Given the description of an element on the screen output the (x, y) to click on. 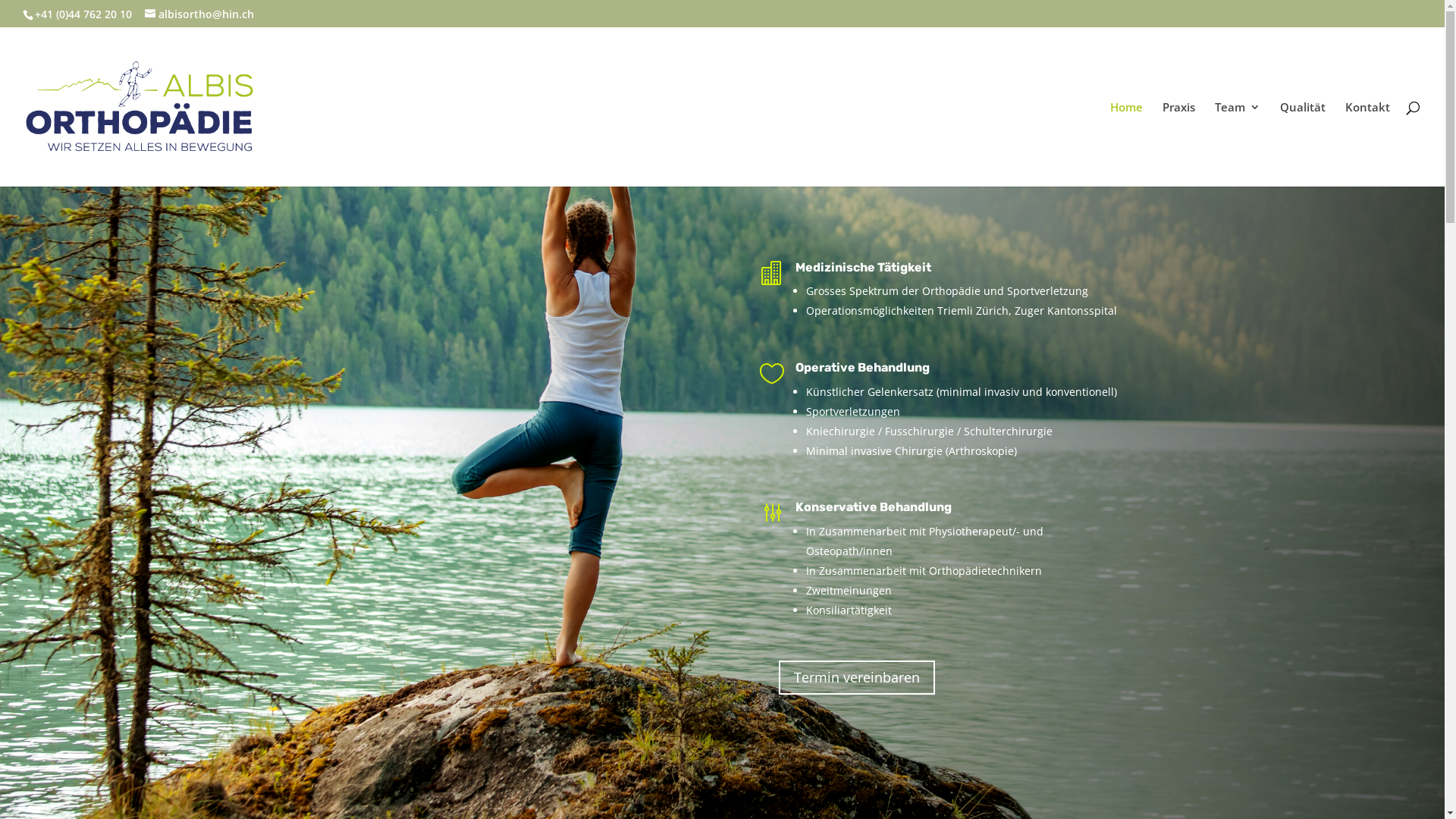
+41 (0)44 762 20 10 Element type: text (82, 13)
Team Element type: text (1237, 143)
Home Element type: text (1126, 143)
Termin vereinbaren Element type: text (856, 677)
Praxis Element type: text (1178, 143)
albisortho@hin.ch Element type: text (199, 13)
Kontakt Element type: text (1367, 143)
